Given the description of an element on the screen output the (x, y) to click on. 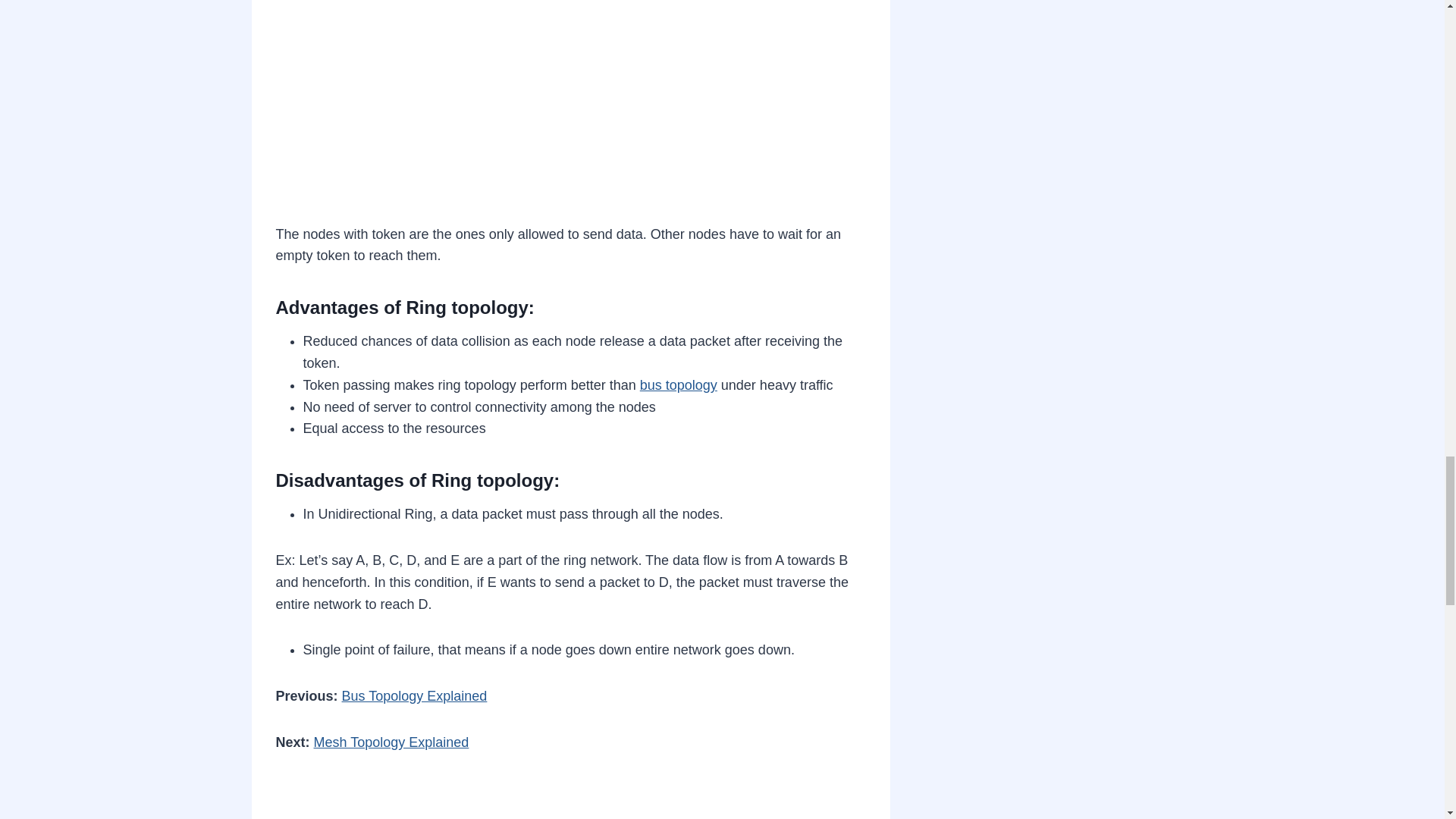
Mesh Topology Explained (391, 742)
Advertisement (571, 105)
Bus Topology Explained (414, 695)
Advertisement (571, 798)
bus topology (678, 385)
